Given the description of an element on the screen output the (x, y) to click on. 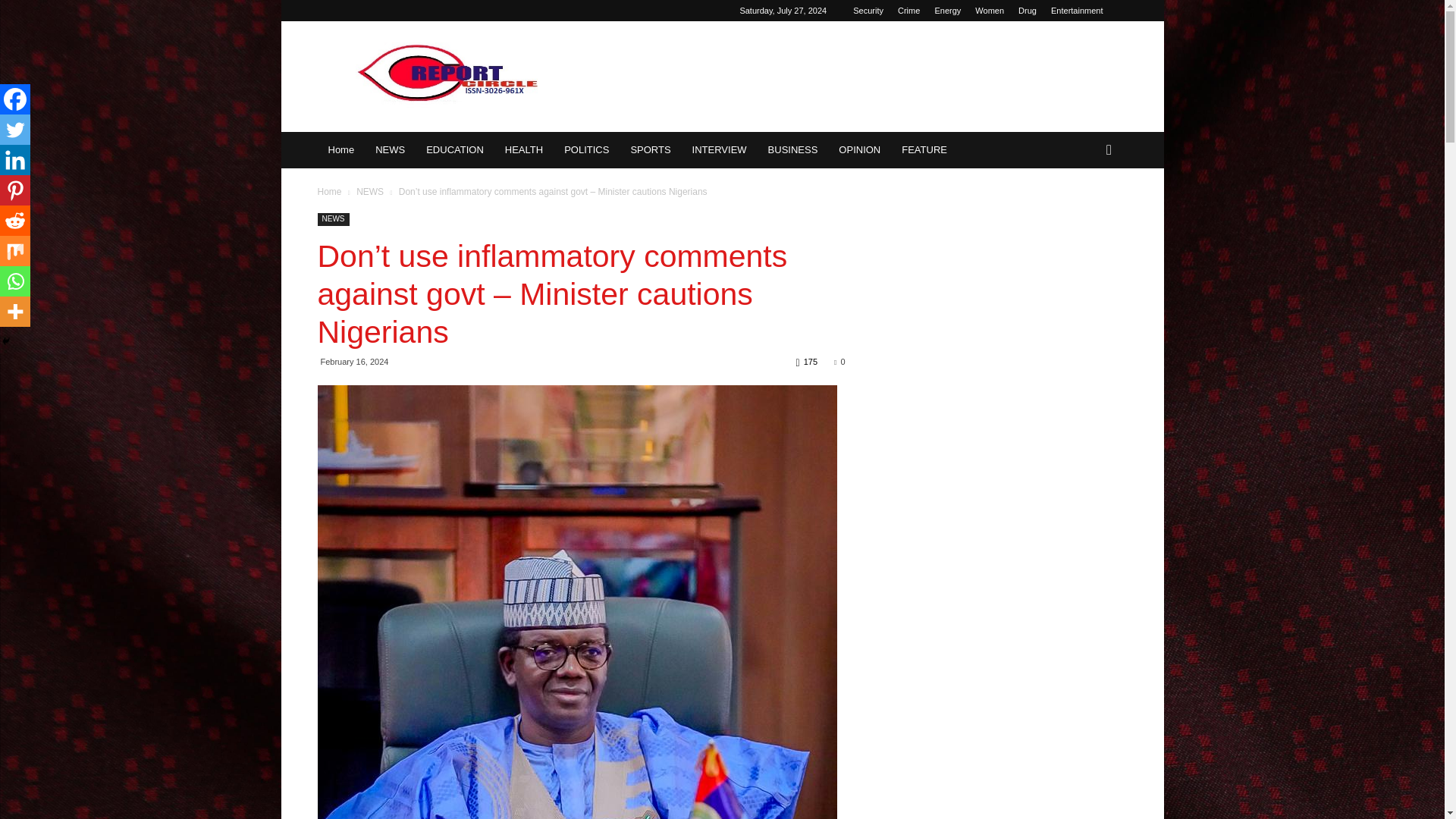
0 (839, 361)
NEWS (370, 191)
HEALTH (524, 149)
Crime (909, 10)
POLITICS (586, 149)
Facebook (15, 99)
NEWS (389, 149)
Energy (947, 10)
Home (328, 191)
Entertainment (1076, 10)
BUSINESS (792, 149)
Linkedin (15, 159)
Security (868, 10)
Women (989, 10)
EDUCATION (454, 149)
